Given the description of an element on the screen output the (x, y) to click on. 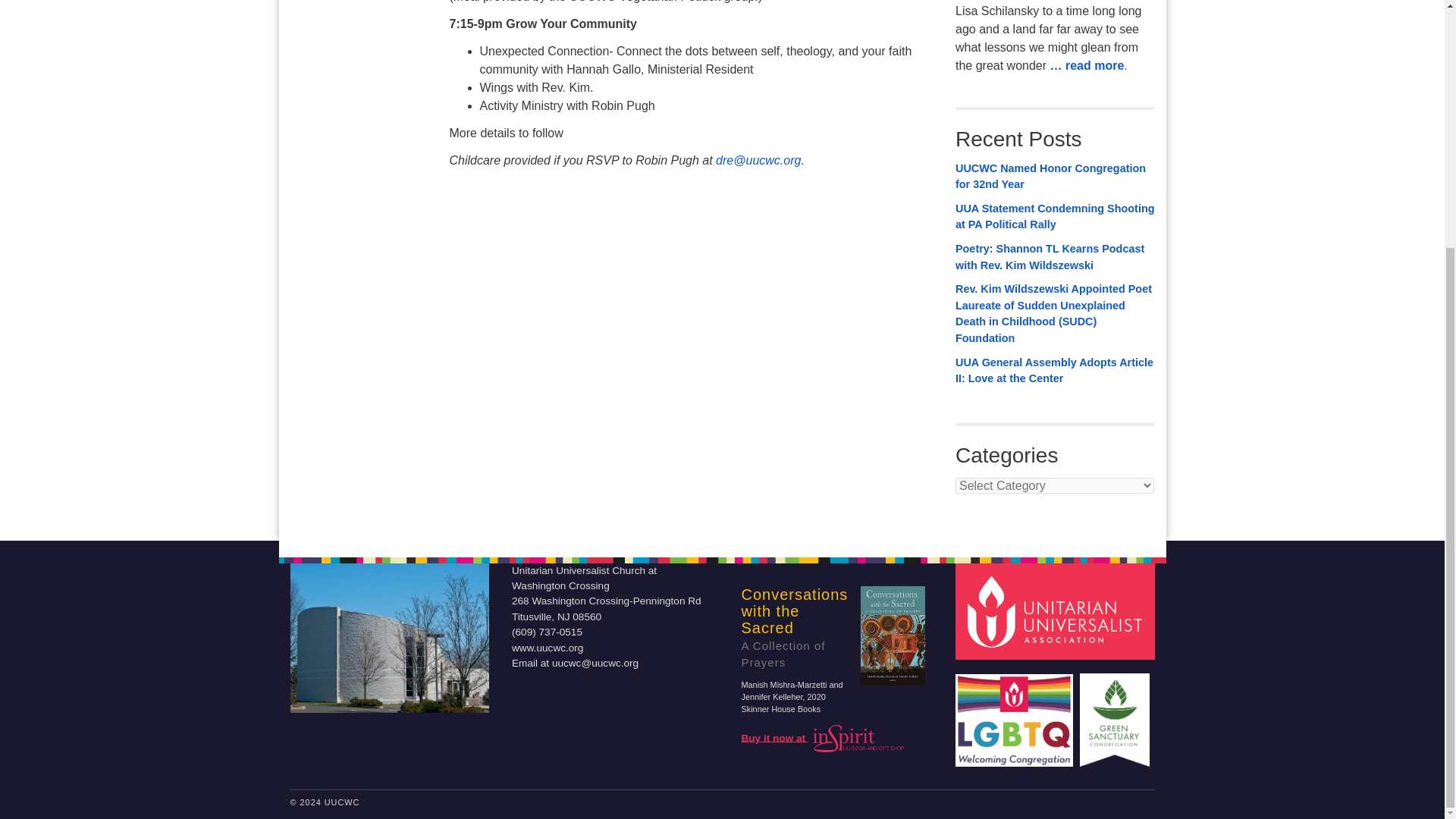
Green Sanctuary (1116, 712)
Welcoming Congregation (1016, 712)
Unitarian Universalist Association (1056, 610)
